Given the description of an element on the screen output the (x, y) to click on. 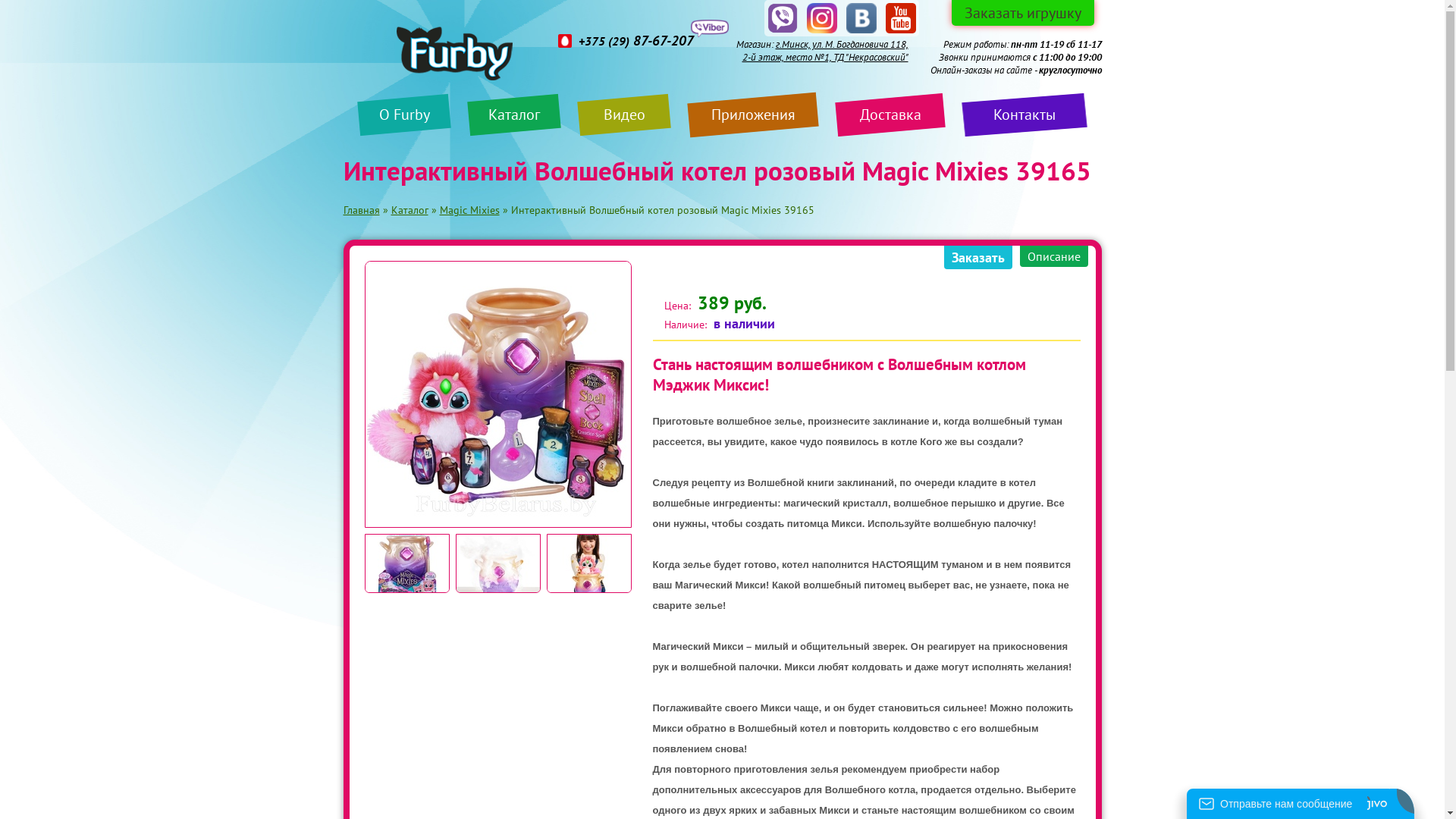
Magic Mixies Element type: text (469, 209)
+375 (29) 87-67-207 Element type: text (627, 40)
